Given the description of an element on the screen output the (x, y) to click on. 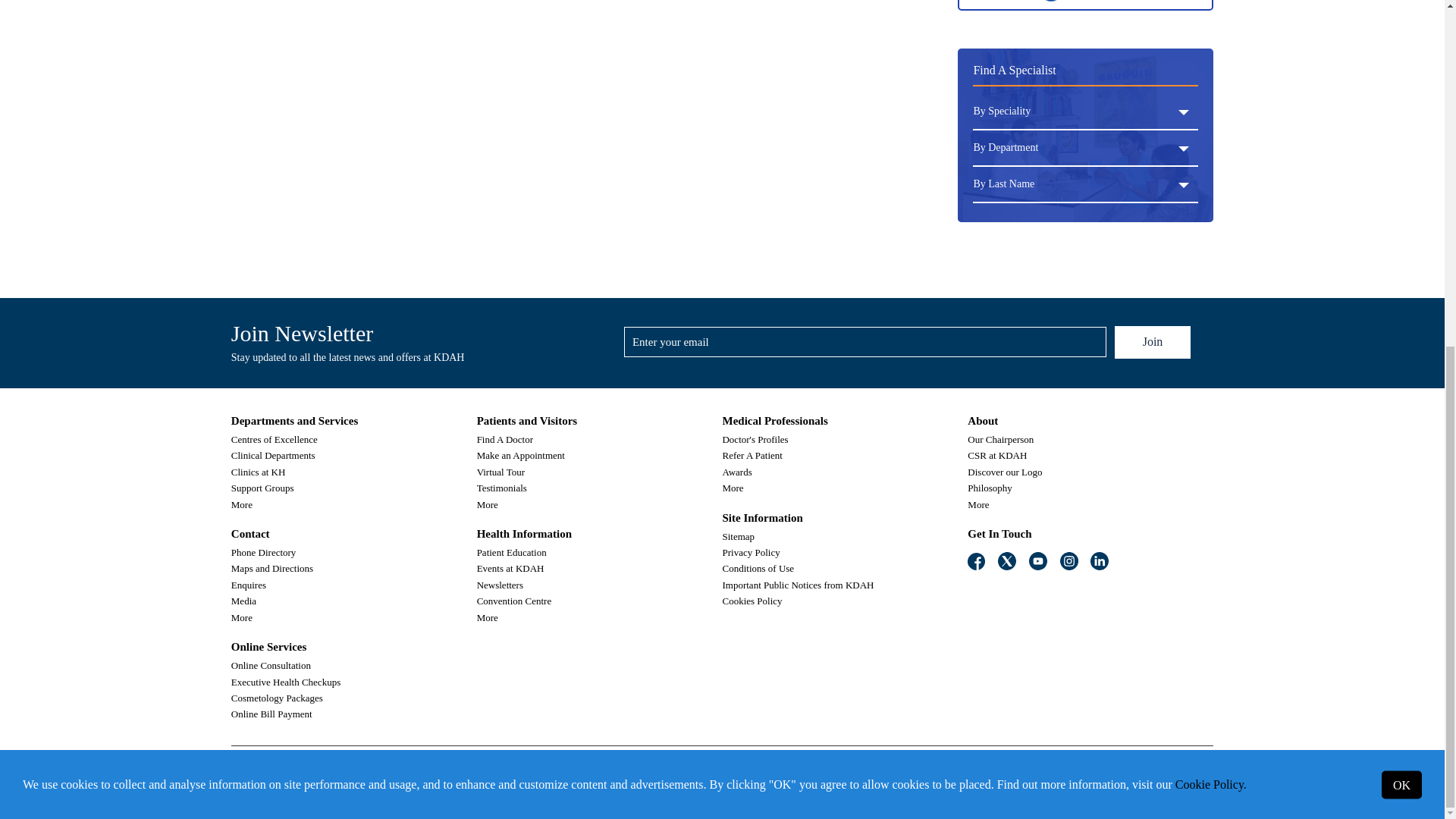
Join (1153, 341)
